Given the description of an element on the screen output the (x, y) to click on. 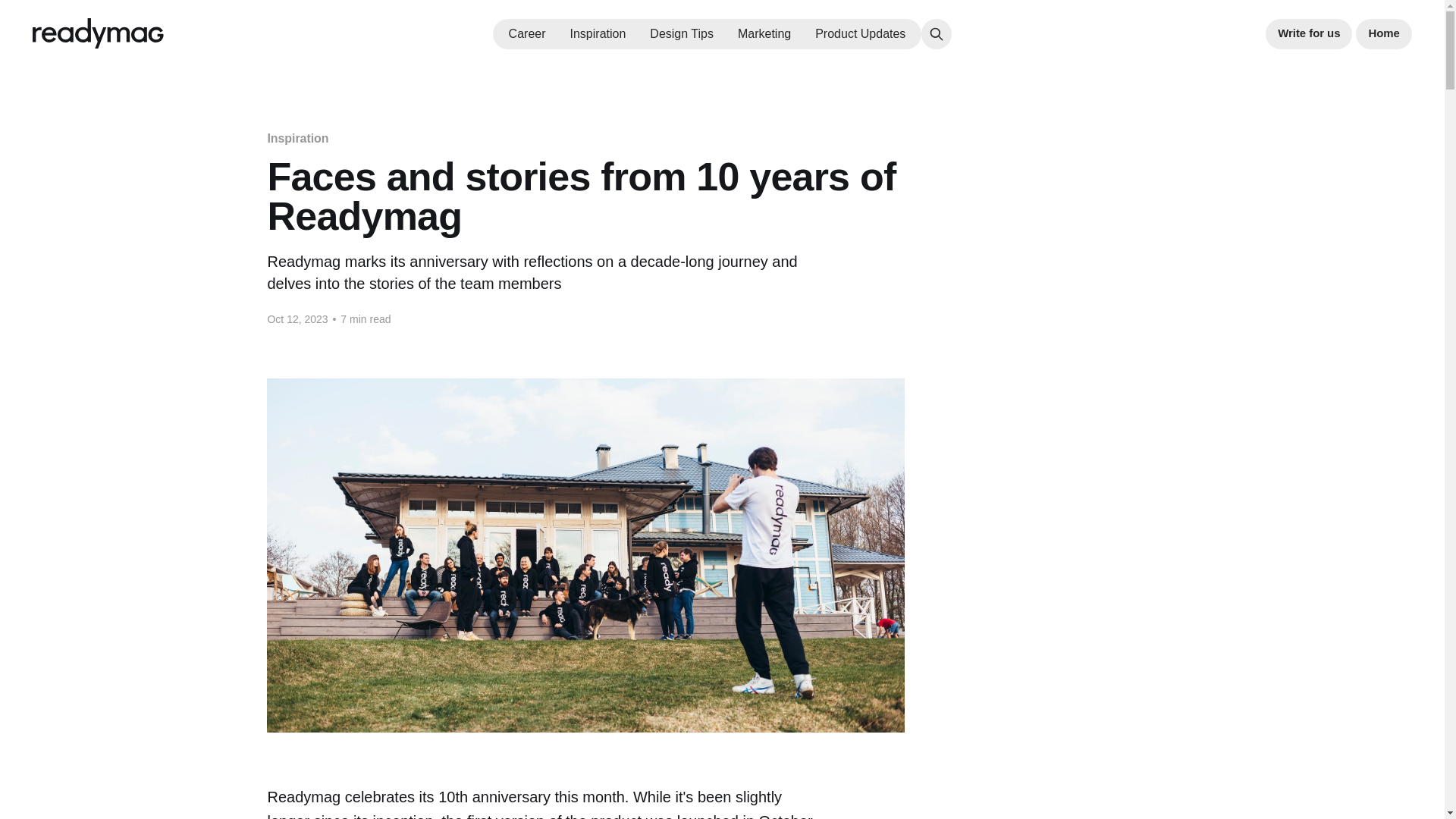
Design Tips (681, 33)
Inspiration (598, 33)
Inspiration (297, 137)
Write for us (1308, 33)
Product Updates (860, 33)
Marketing (764, 33)
Home (1382, 33)
Career (527, 33)
